Given the description of an element on the screen output the (x, y) to click on. 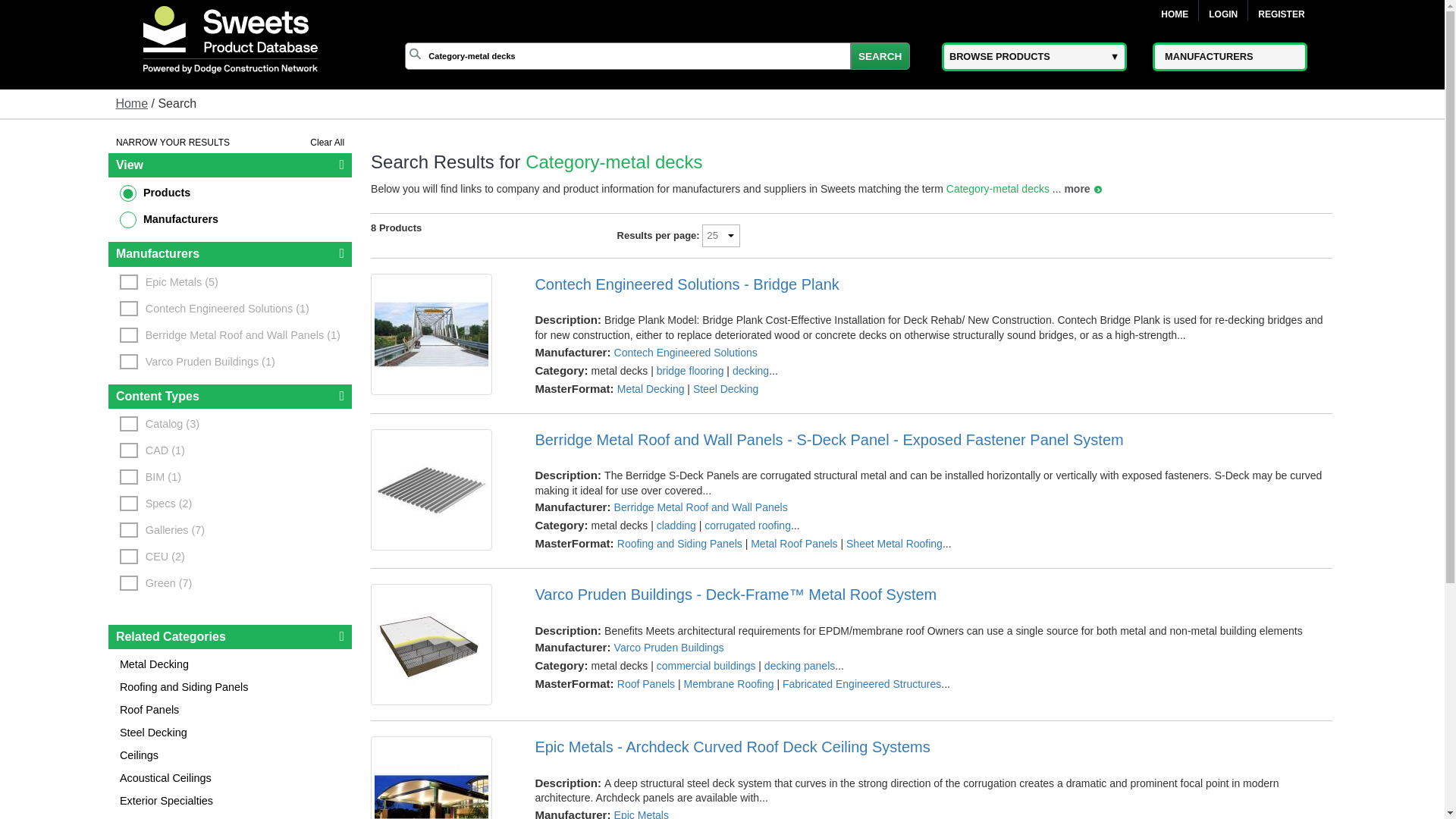
Contech Engineered Solutions - Bridge Plank (441, 333)
Search (880, 55)
Category-metal decks (627, 55)
Epic Metals - Archdeck Curved Roof Deck Ceiling Systems (933, 746)
Search (880, 55)
Search (880, 55)
Sweets.com homepage (131, 103)
MANUFACTURERS (1230, 55)
Home (1174, 14)
LOGIN (1222, 14)
Contech Engineered Solutions - Bridge Plank (933, 283)
more (1082, 188)
HOME (1174, 14)
